Given the description of an element on the screen output the (x, y) to click on. 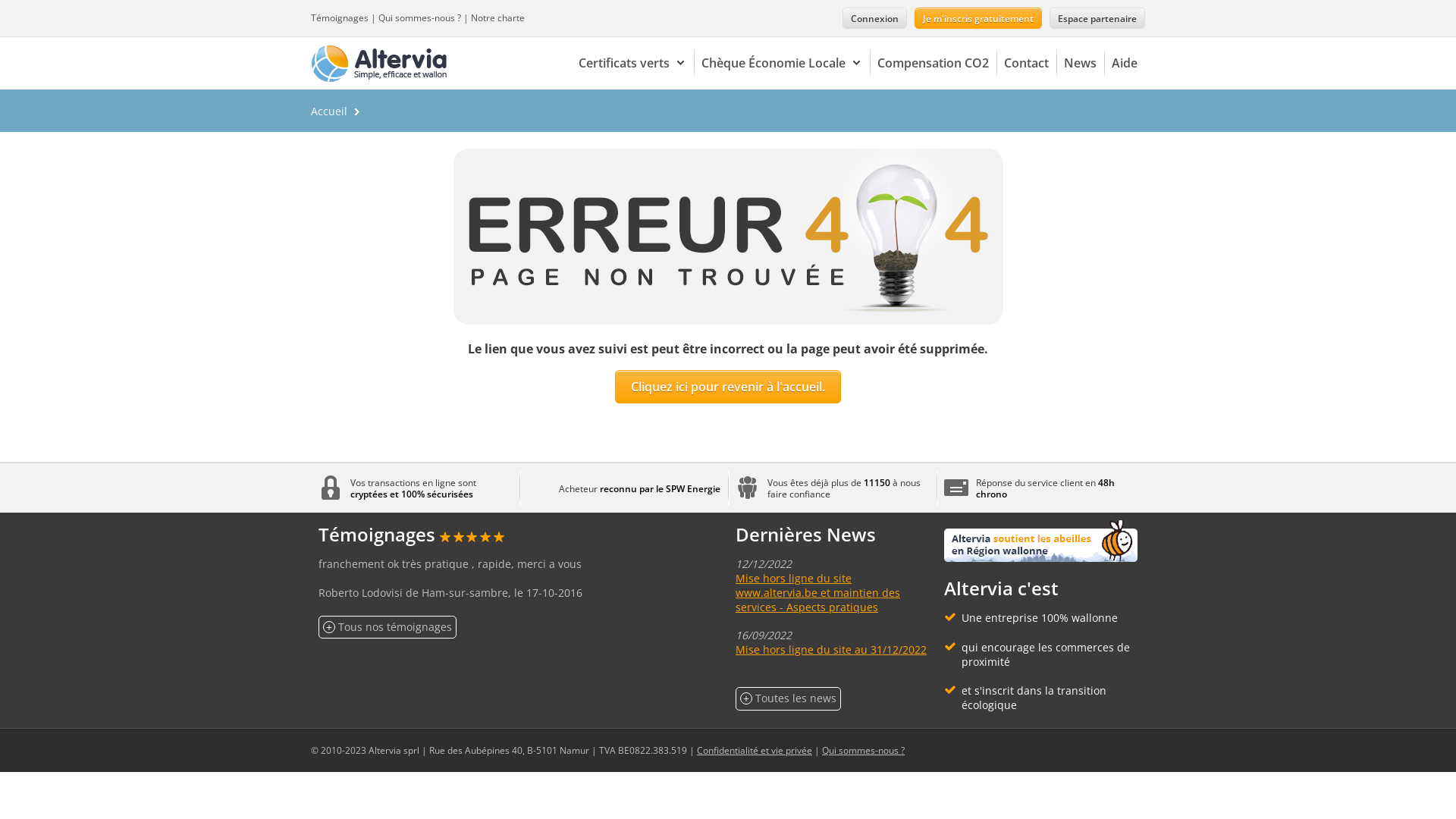
+ Toutes les news Element type: text (787, 698)
Espace partenaire Element type: text (1097, 17)
Connexion Element type: text (874, 17)
Qui sommes-nous ? Element type: text (863, 749)
Notre charte Element type: text (497, 17)
Mise hors ligne du site au 31/12/2022 Element type: text (830, 649)
Accueil Element type: text (328, 110)
News Element type: text (1080, 63)
Qui sommes-nous ? Element type: text (419, 17)
Certificats verts Element type: text (632, 63)
Je m'inscris gratuitement Element type: text (977, 17)
Contact Element type: text (1026, 63)
Aide Element type: text (1124, 63)
Compensation CO2 Element type: text (932, 63)
